Given the description of an element on the screen output the (x, y) to click on. 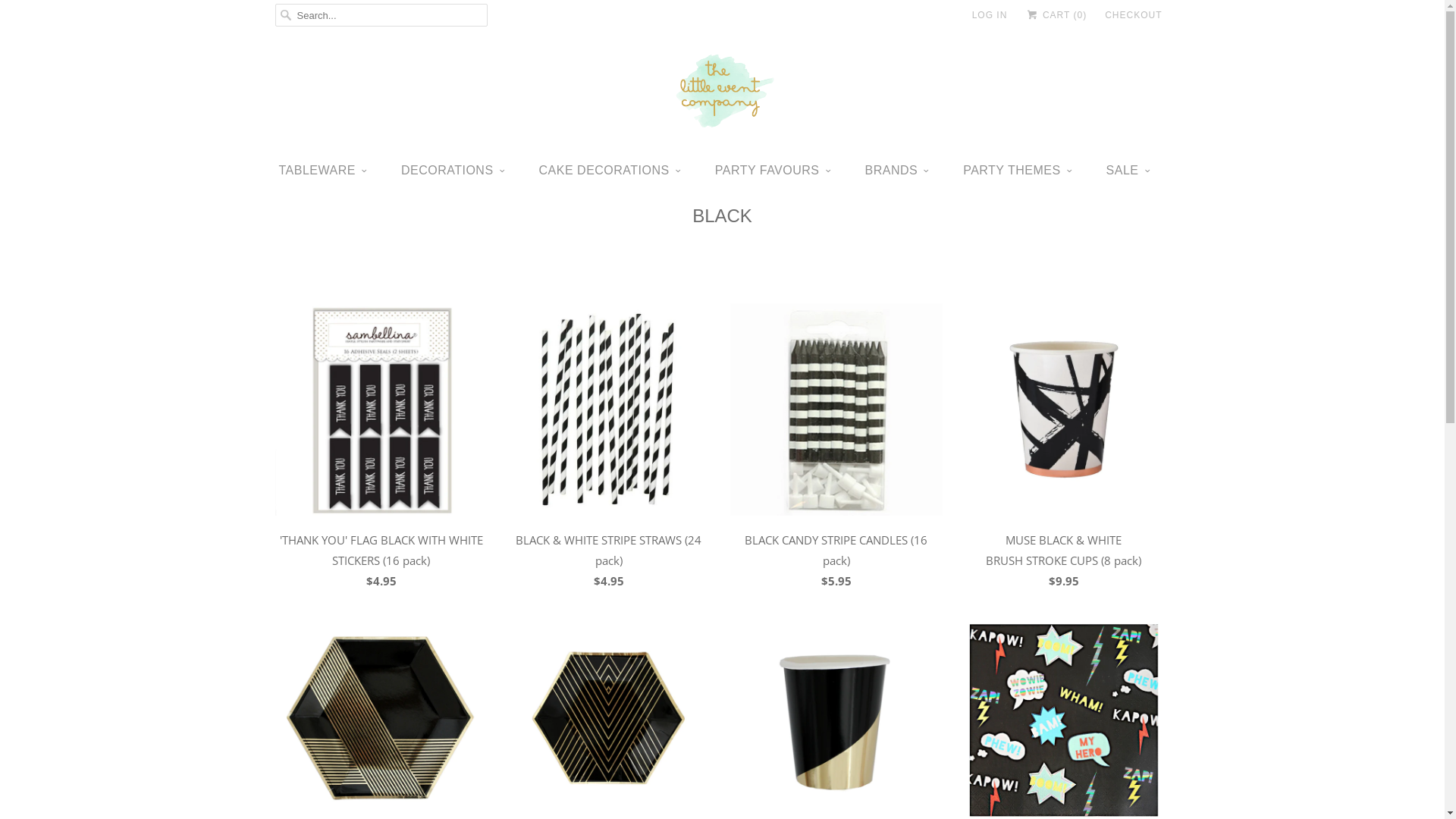
The Little Event Company Element type: hover (721, 93)
BLACK & WHITE STRIPE STRAWS (24 pack)
$4.95 Element type: text (608, 450)
MUSE BLACK & WHITE
BRUSH STROKE CUPS (8 pack)
$9.95 Element type: text (1063, 450)
PARTY FAVOURS Element type: text (773, 171)
CAKE DECORATIONS Element type: text (610, 171)
CHECKOUT Element type: text (1132, 14)
LOG IN Element type: text (989, 14)
BRANDS Element type: text (896, 171)
BLACK Element type: text (722, 215)
'THANK YOU' FLAG BLACK WITH WHITE STICKERS (16 pack)
$4.95 Element type: text (380, 450)
BLACK CANDY STRIPE CANDLES (16 pack)
$5.95 Element type: text (835, 450)
SALE Element type: text (1128, 171)
TABLEWARE Element type: text (323, 171)
CART (0) Element type: text (1055, 14)
DECORATIONS Element type: text (453, 171)
PARTY THEMES Element type: text (1017, 171)
